Given the description of an element on the screen output the (x, y) to click on. 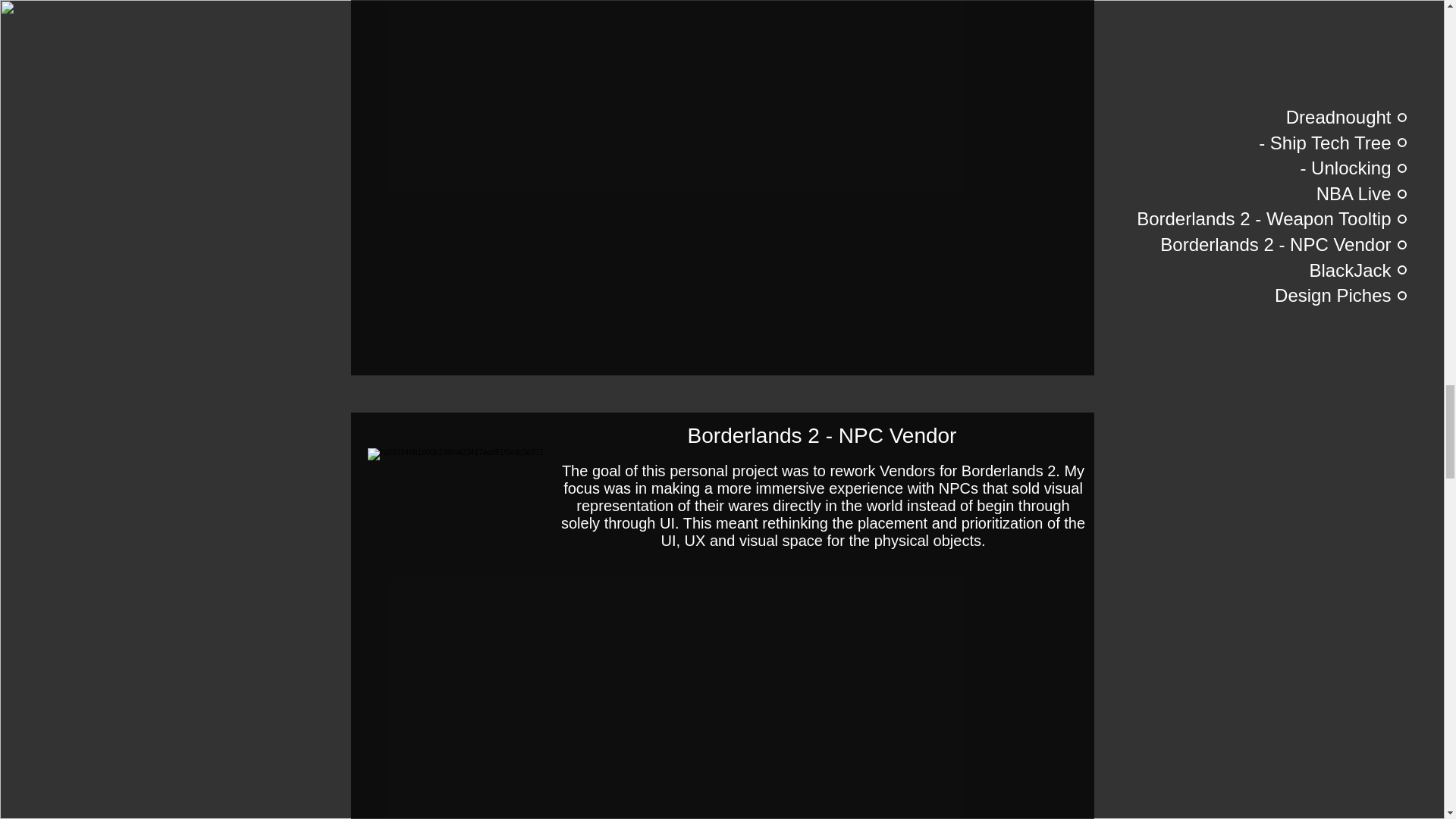
External YouTube (721, 696)
